Given the description of an element on the screen output the (x, y) to click on. 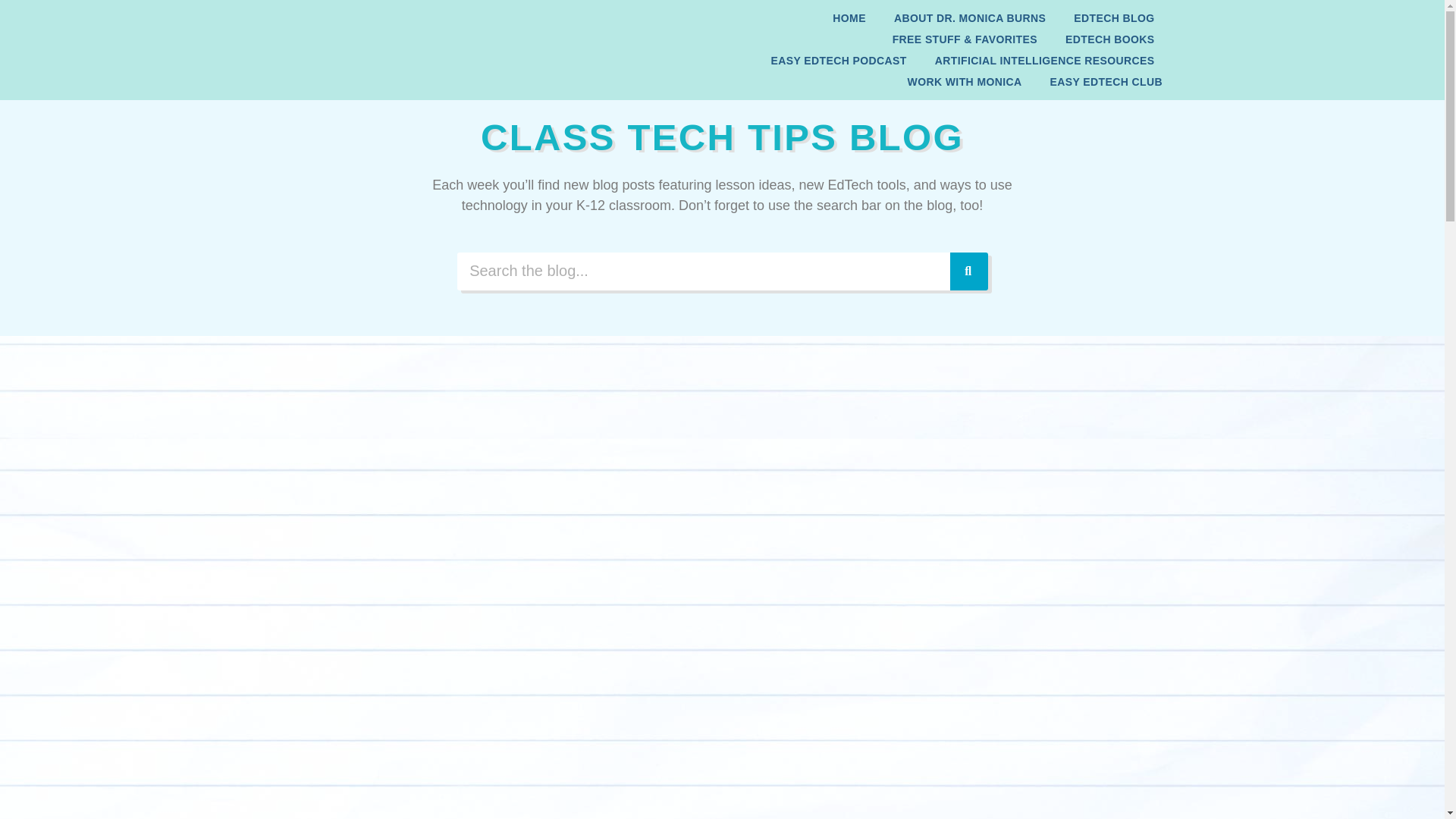
EDTECH BOOKS (1109, 38)
EASY EDTECH CLUB (1106, 81)
ABOUT DR. MONICA BURNS (969, 17)
EASY EDTECH PODCAST (838, 60)
WORK WITH MONICA (964, 81)
HOME (849, 17)
ARTIFICIAL INTELLIGENCE RESOURCES (1044, 60)
EDTECH BLOG (1113, 17)
